Given the description of an element on the screen output the (x, y) to click on. 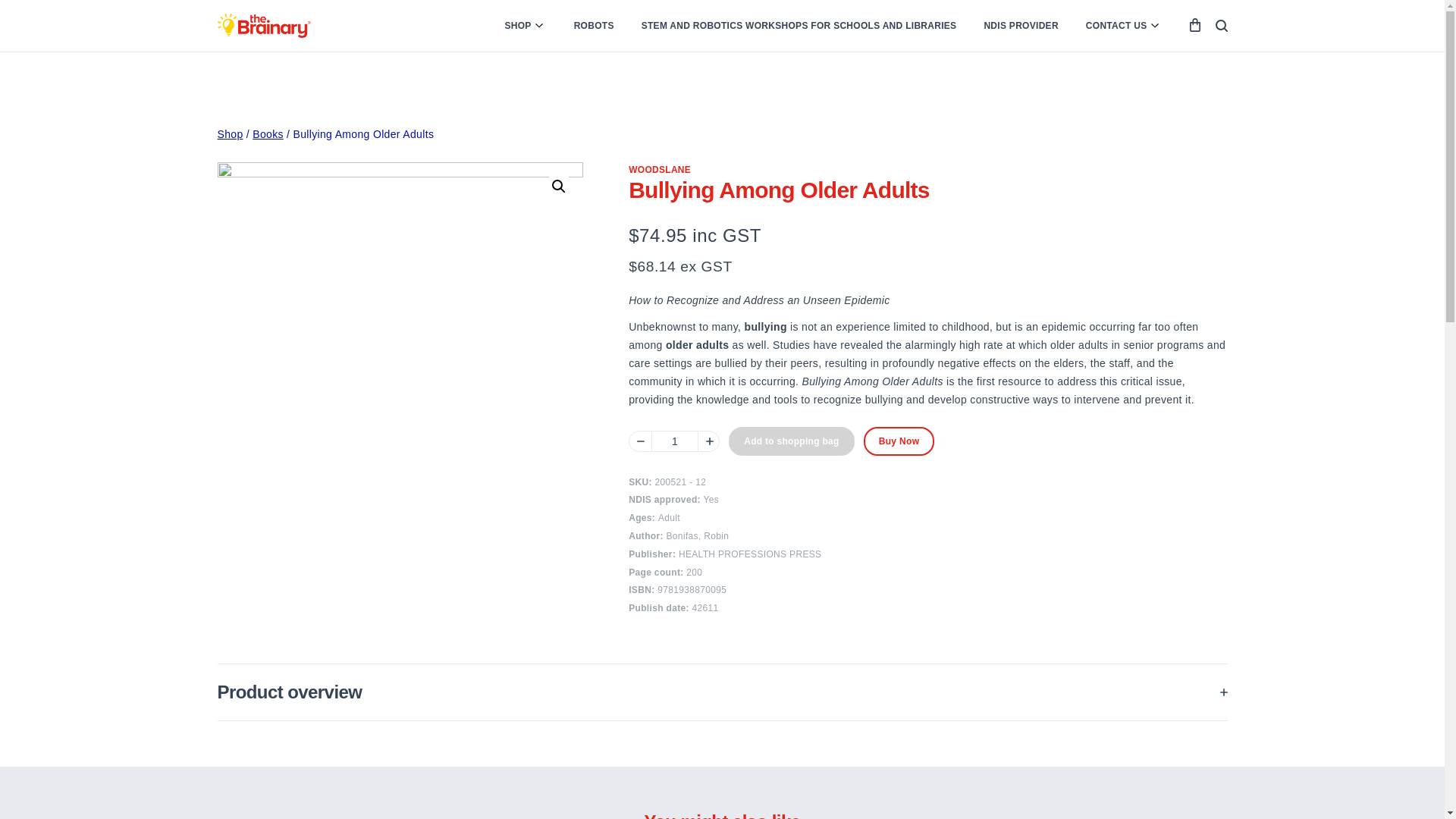
STEM AND ROBOTICS WORKSHOPS FOR SCHOOLS AND LIBRARIES (798, 25)
1 (674, 441)
Buy Now (898, 440)
Books (267, 133)
SHOP (524, 25)
NDIS PROVIDER (1020, 25)
Shop (229, 133)
ROBOTS (593, 25)
CONTACT US (1124, 25)
Add to shopping bag (791, 440)
Shopping bag (1195, 24)
